Given the description of an element on the screen output the (x, y) to click on. 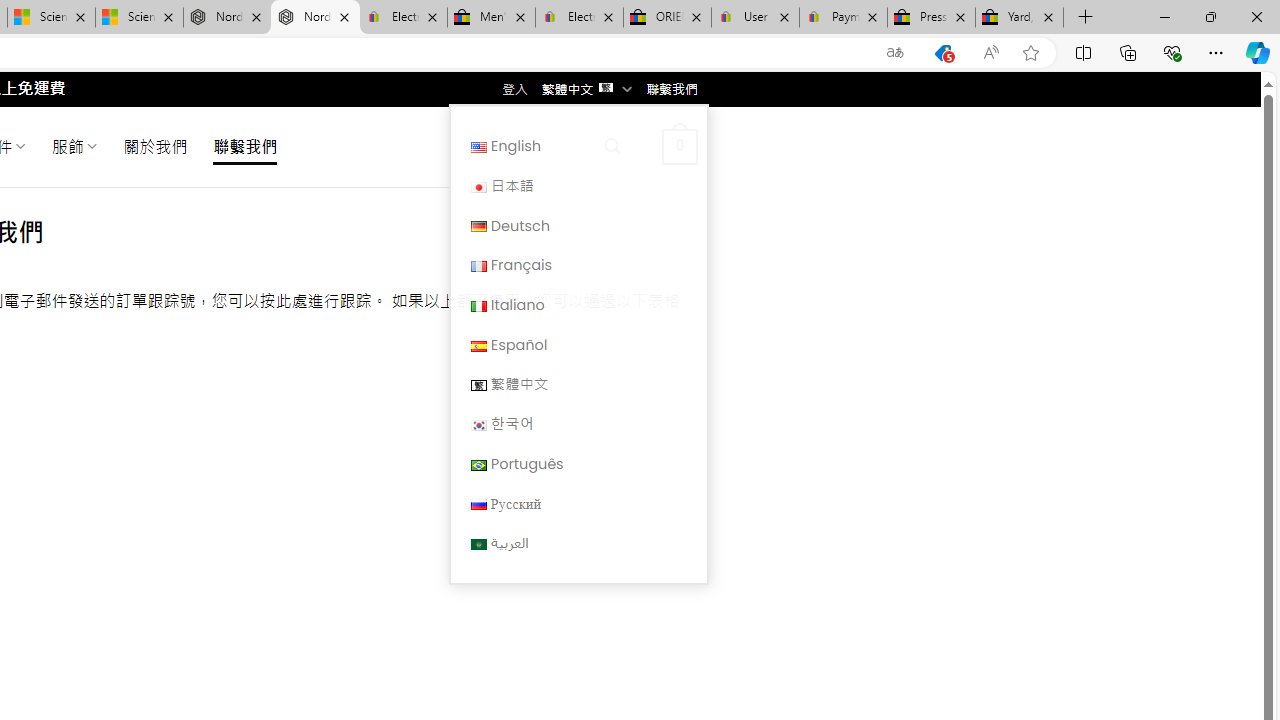
 0  (679, 146)
 Deutsch (578, 225)
Payments Terms of Use | eBay.com (843, 17)
 English (578, 145)
 Italiano (578, 303)
